Given the description of an element on the screen output the (x, y) to click on. 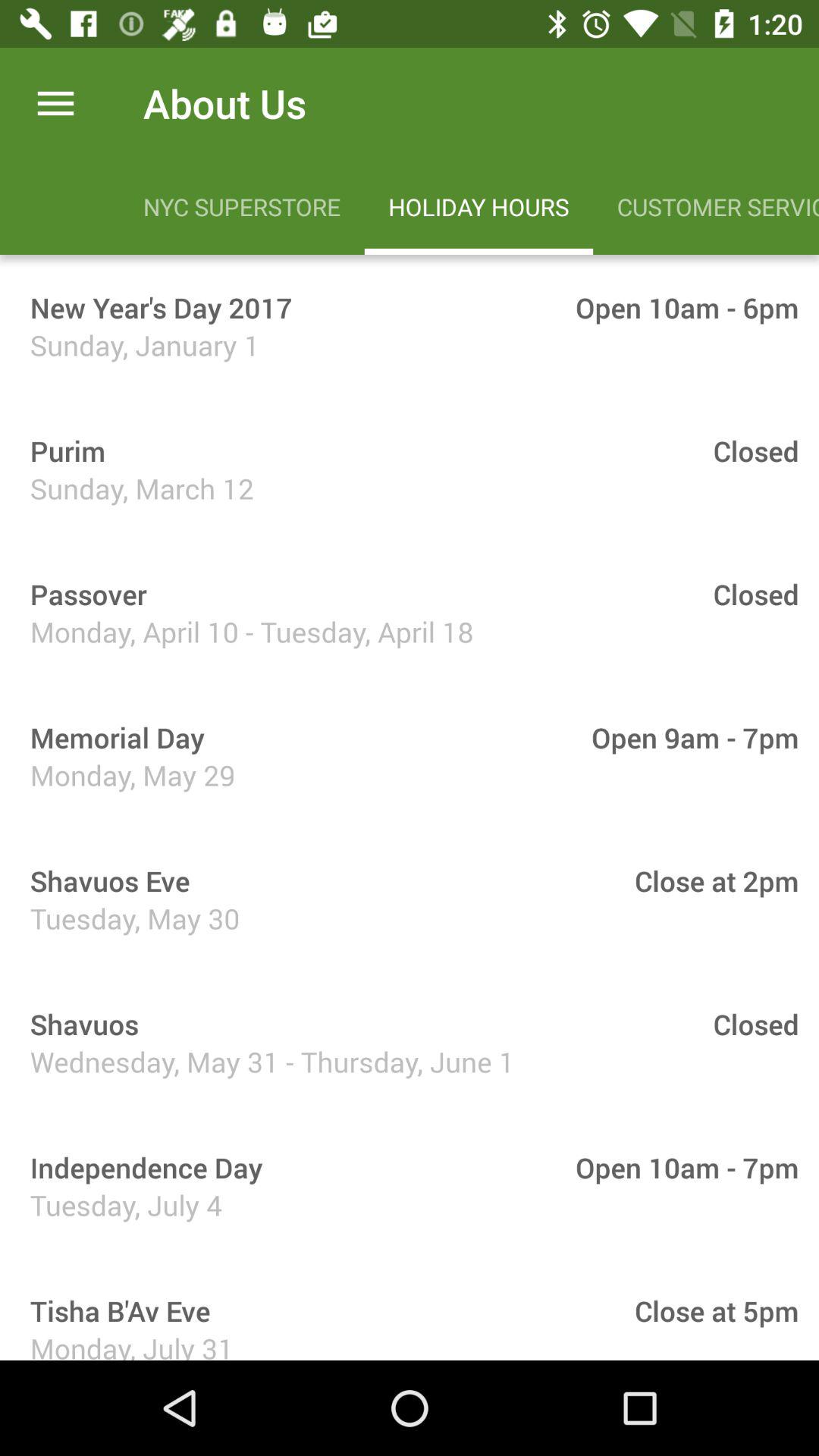
swipe to passover icon (82, 594)
